Given the description of an element on the screen output the (x, y) to click on. 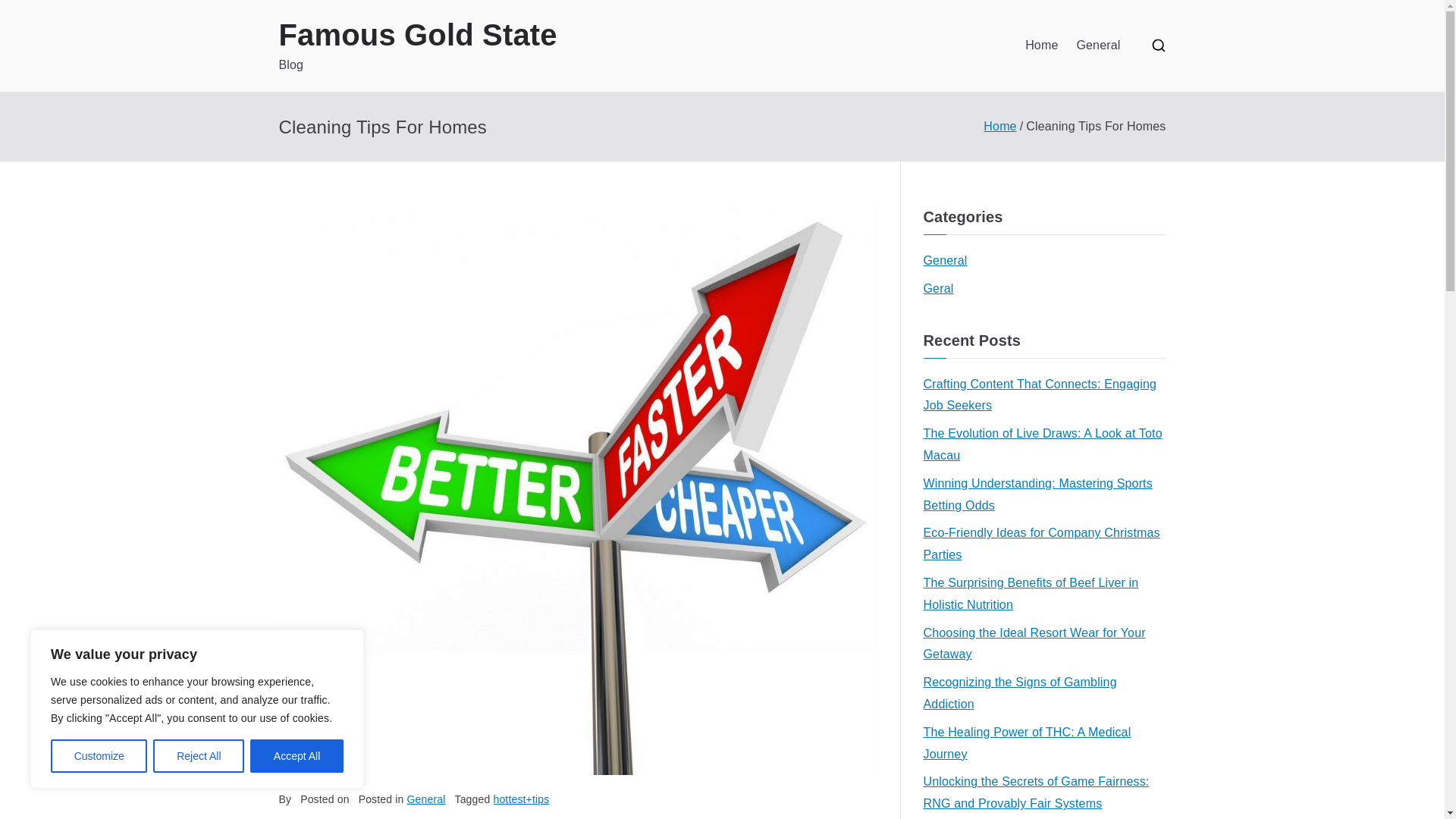
Famous Gold State (418, 34)
General (1097, 45)
Reject All (198, 756)
Home (1000, 125)
Geral (938, 289)
Crafting Content That Connects: Engaging Job Seekers (1044, 395)
Accept All (296, 756)
General (426, 799)
General (945, 260)
Home (1041, 45)
